Given the description of an element on the screen output the (x, y) to click on. 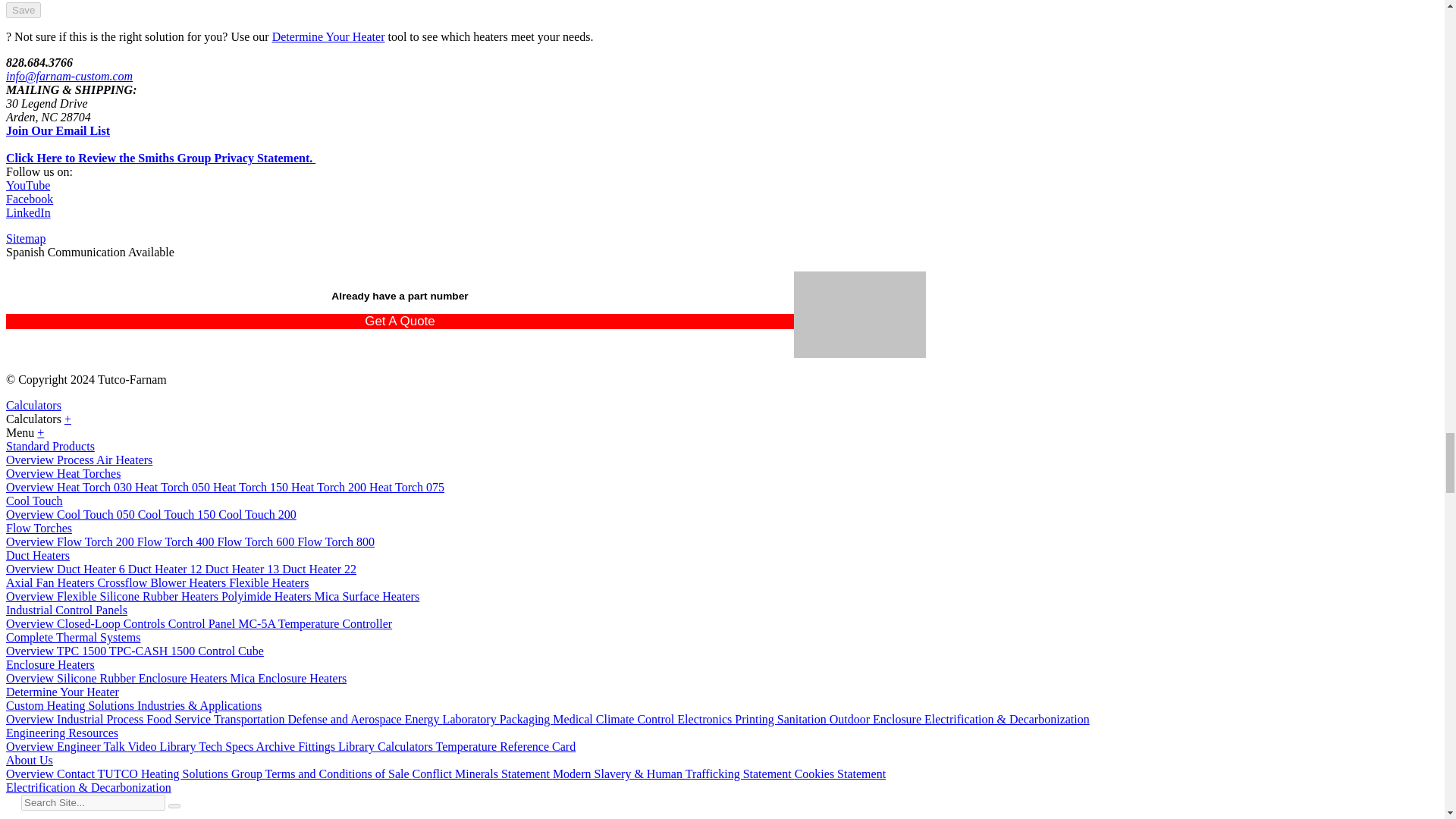
Submit Search (174, 805)
Submit (22, 10)
Save (22, 10)
Site Search (93, 802)
